Given the description of an element on the screen output the (x, y) to click on. 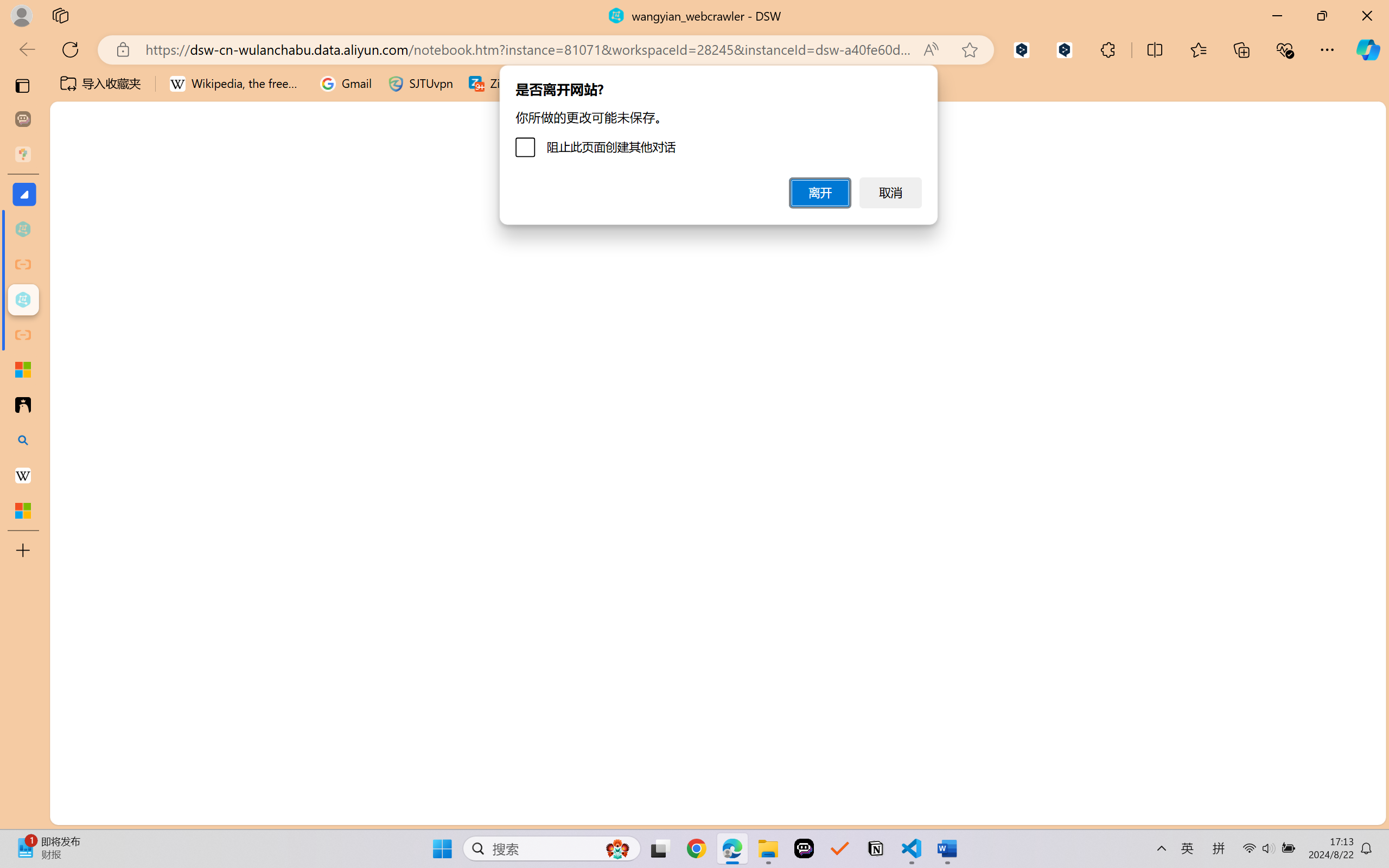
Czech (detected) (1256, 136)
Armenian (1271, 285)
Reading Order Pane (287, 62)
Bangla (1271, 359)
Chinese Simplified (1271, 630)
Assamese (1271, 309)
Always Use Subtitles (482, 52)
